Given the description of an element on the screen output the (x, y) to click on. 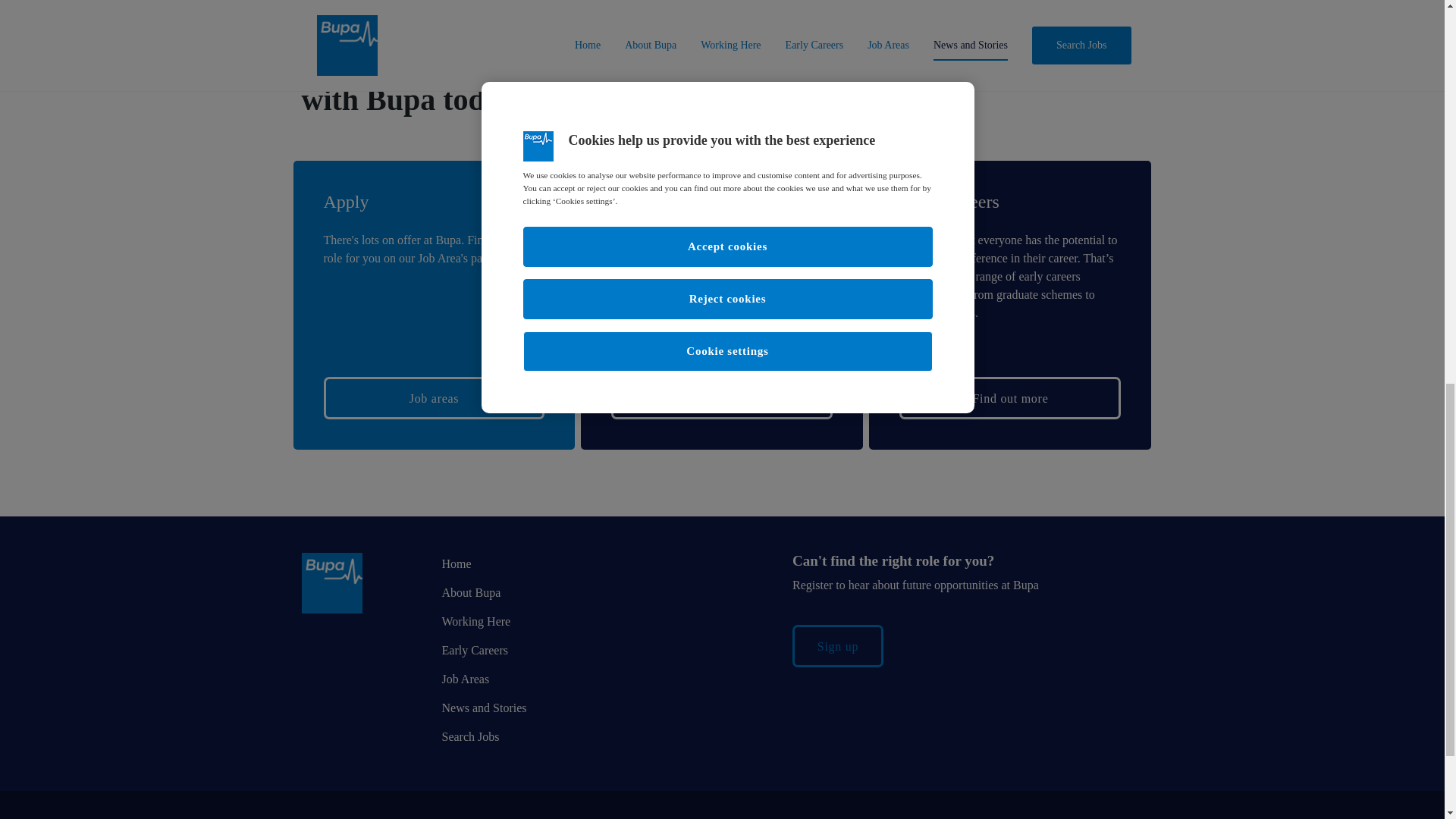
Job Areas (465, 678)
Early Careers (474, 649)
Care Homes Front Line (721, 397)
Sign up (837, 645)
Job areas (433, 397)
News and Stories (483, 707)
Working Here (476, 621)
About Bupa (470, 592)
Main Talent Community (721, 337)
Search Jobs (470, 736)
